Given the description of an element on the screen output the (x, y) to click on. 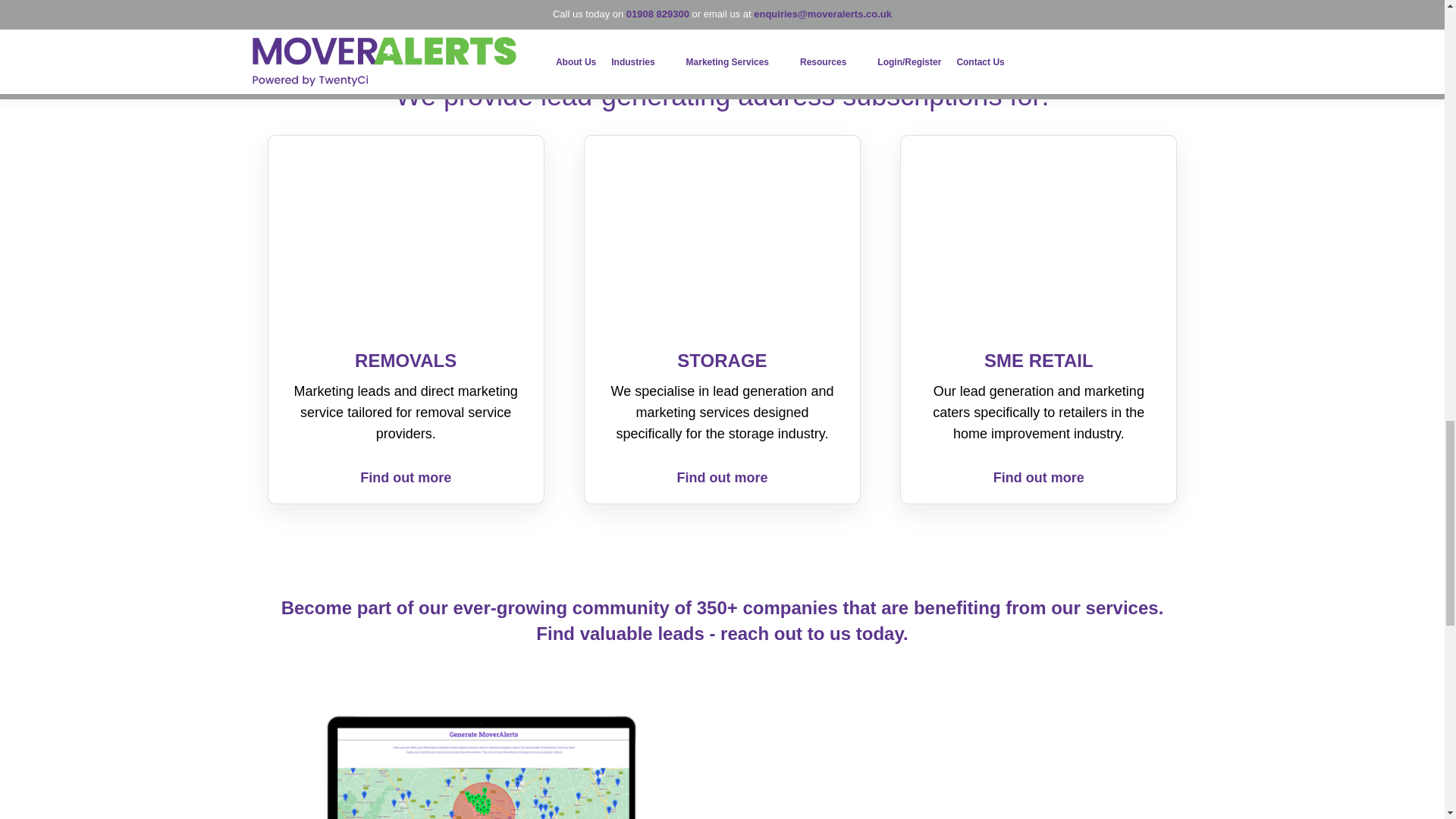
Find out more (1038, 477)
Find out more (405, 477)
Find out more (722, 477)
Find out more (1038, 477)
Find out more (405, 477)
Find out more (722, 477)
MA App Mock-Up (480, 765)
